Given the description of an element on the screen output the (x, y) to click on. 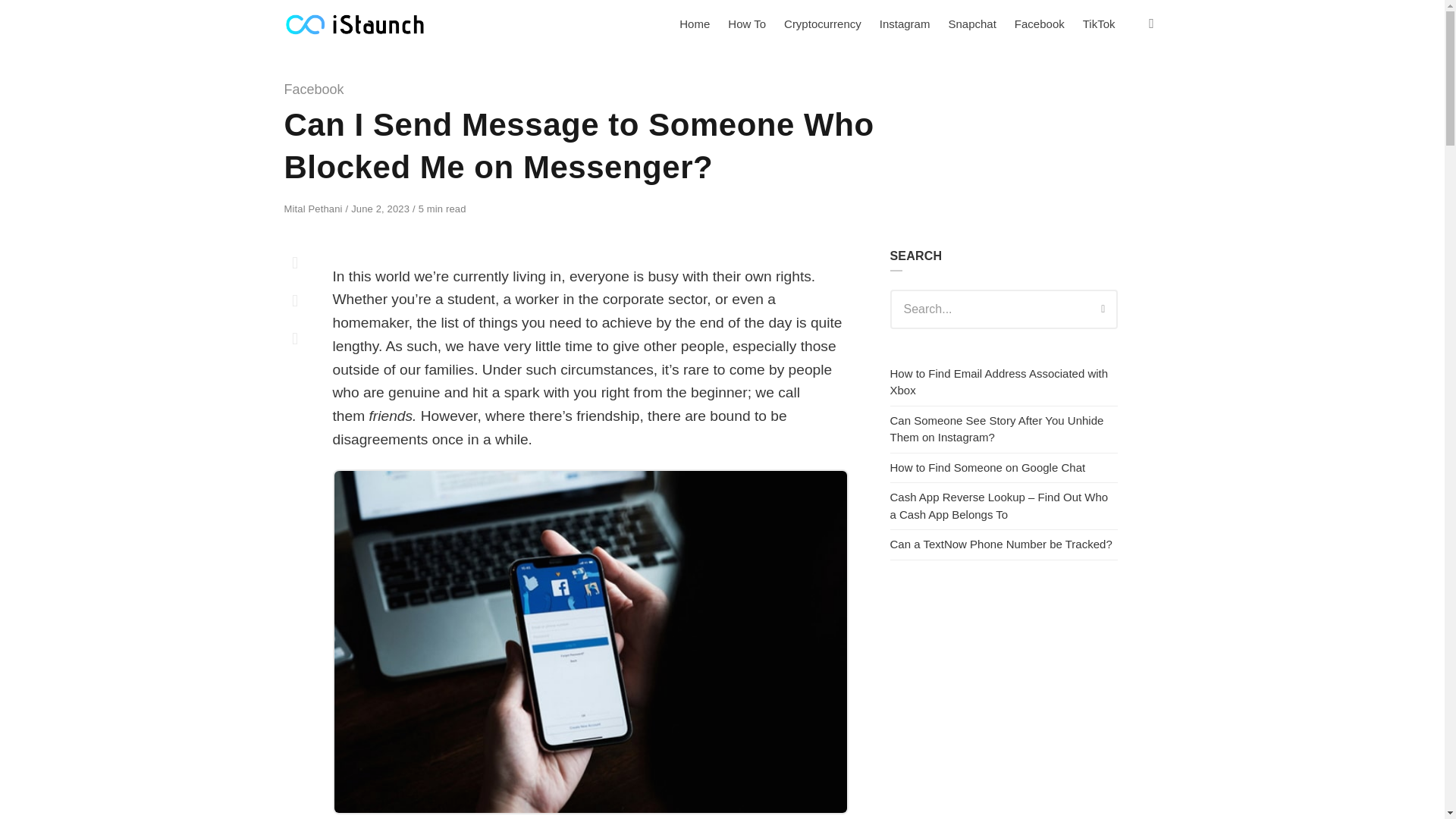
Mital Pethani (314, 208)
Can a TextNow Phone Number be Tracked? (1000, 543)
Cryptocurrency (822, 24)
How to Find Email Address Associated with Xbox (998, 381)
June 2, 2023 (381, 208)
Instagram (904, 24)
Facebook (313, 89)
Snapchat (971, 24)
How to Find Someone on Google Chat (987, 467)
Home (694, 24)
